Given the description of an element on the screen output the (x, y) to click on. 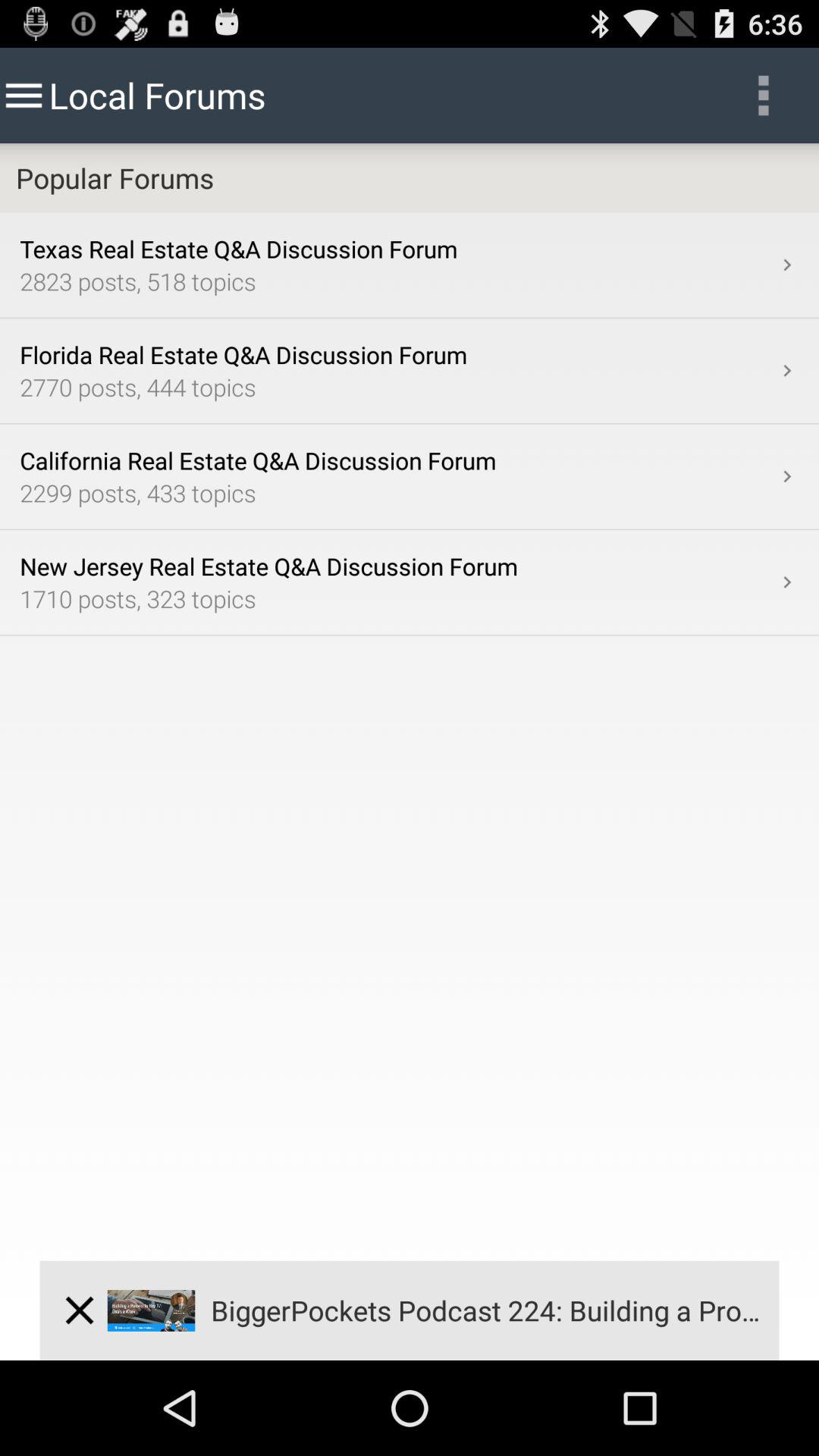
select item above california real estate (787, 370)
